Given the description of an element on the screen output the (x, y) to click on. 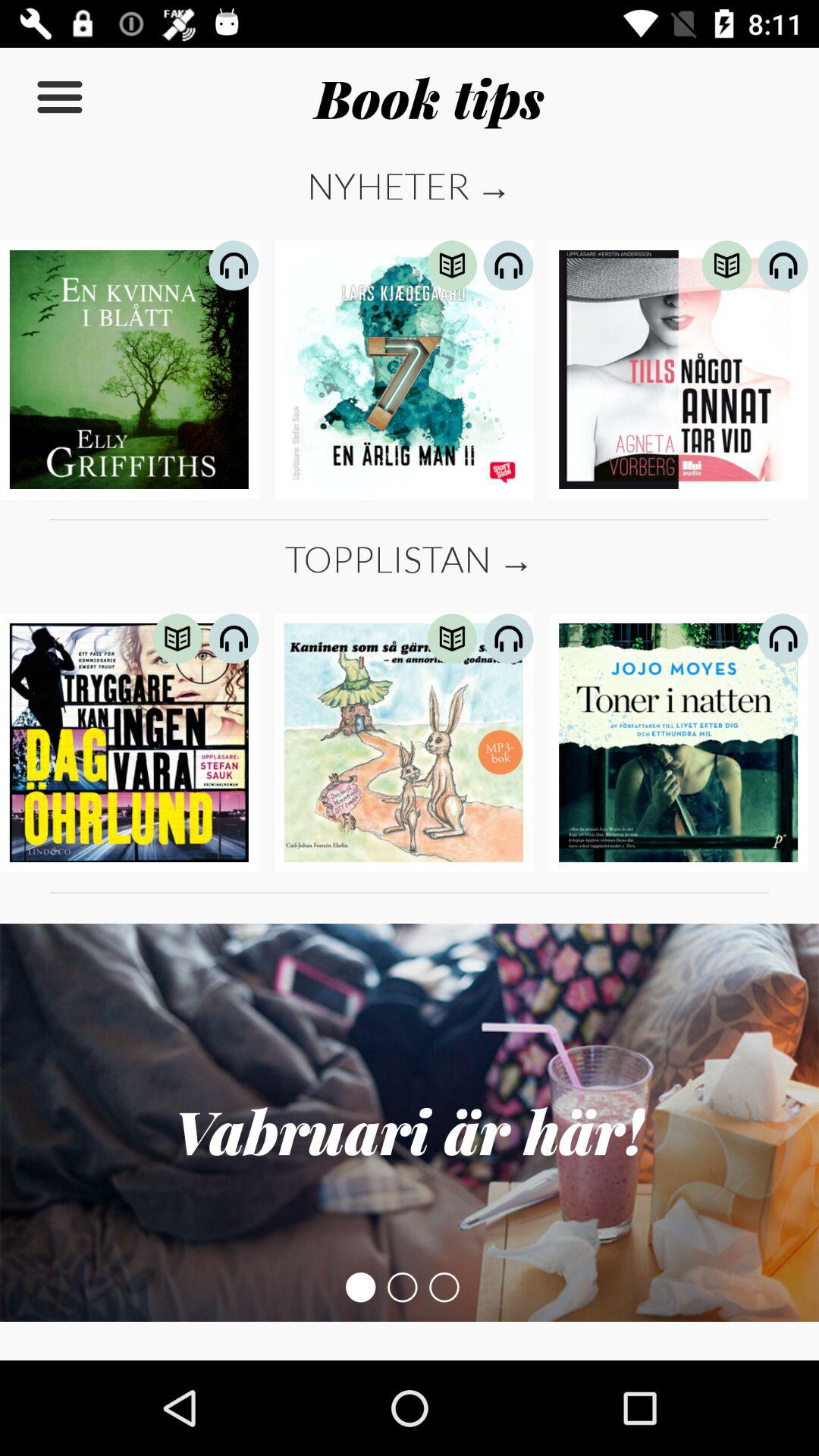
press the item next to the book tips (59, 97)
